Given the description of an element on the screen output the (x, y) to click on. 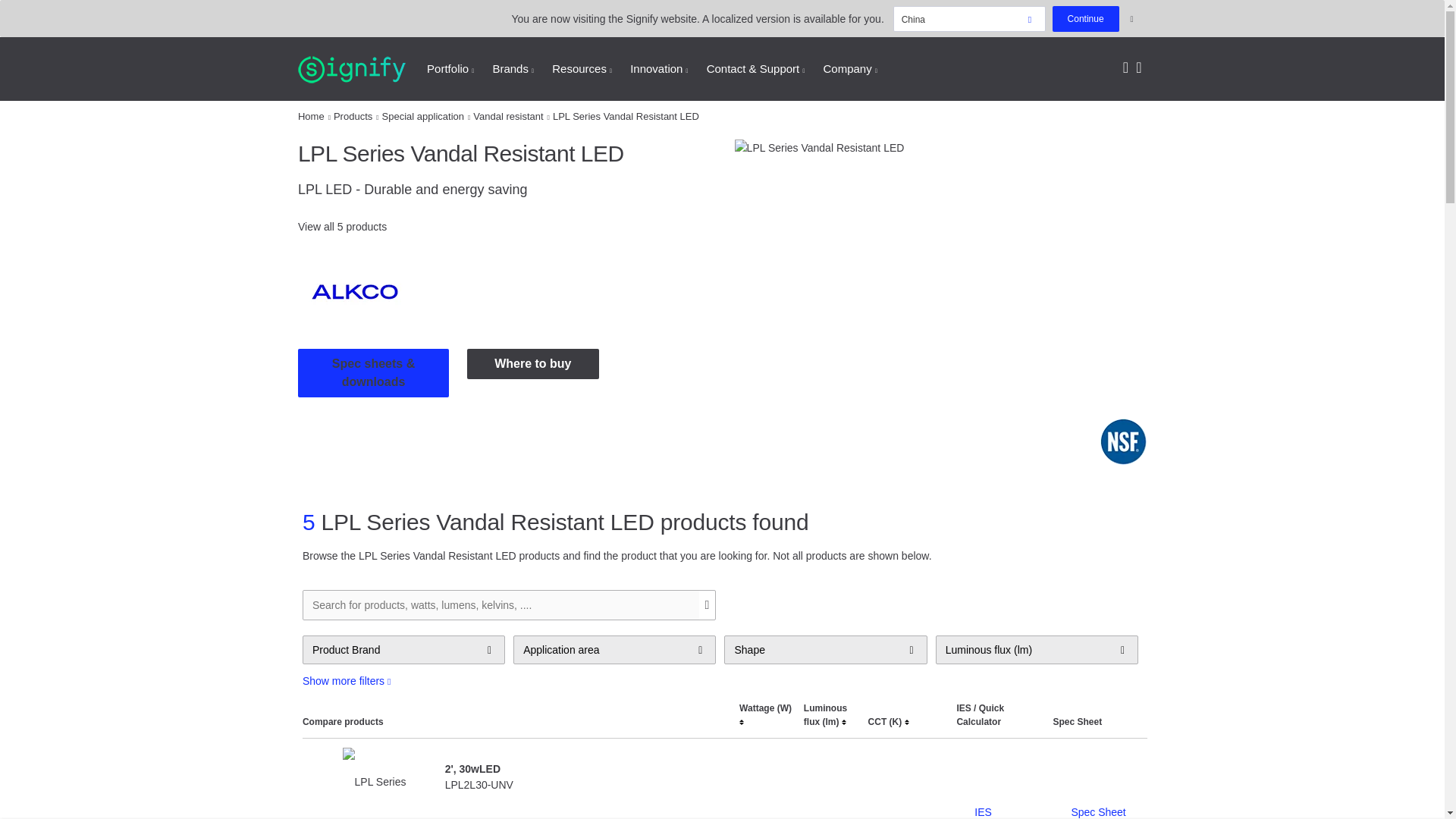
Continue (1085, 18)
